Given the description of an element on the screen output the (x, y) to click on. 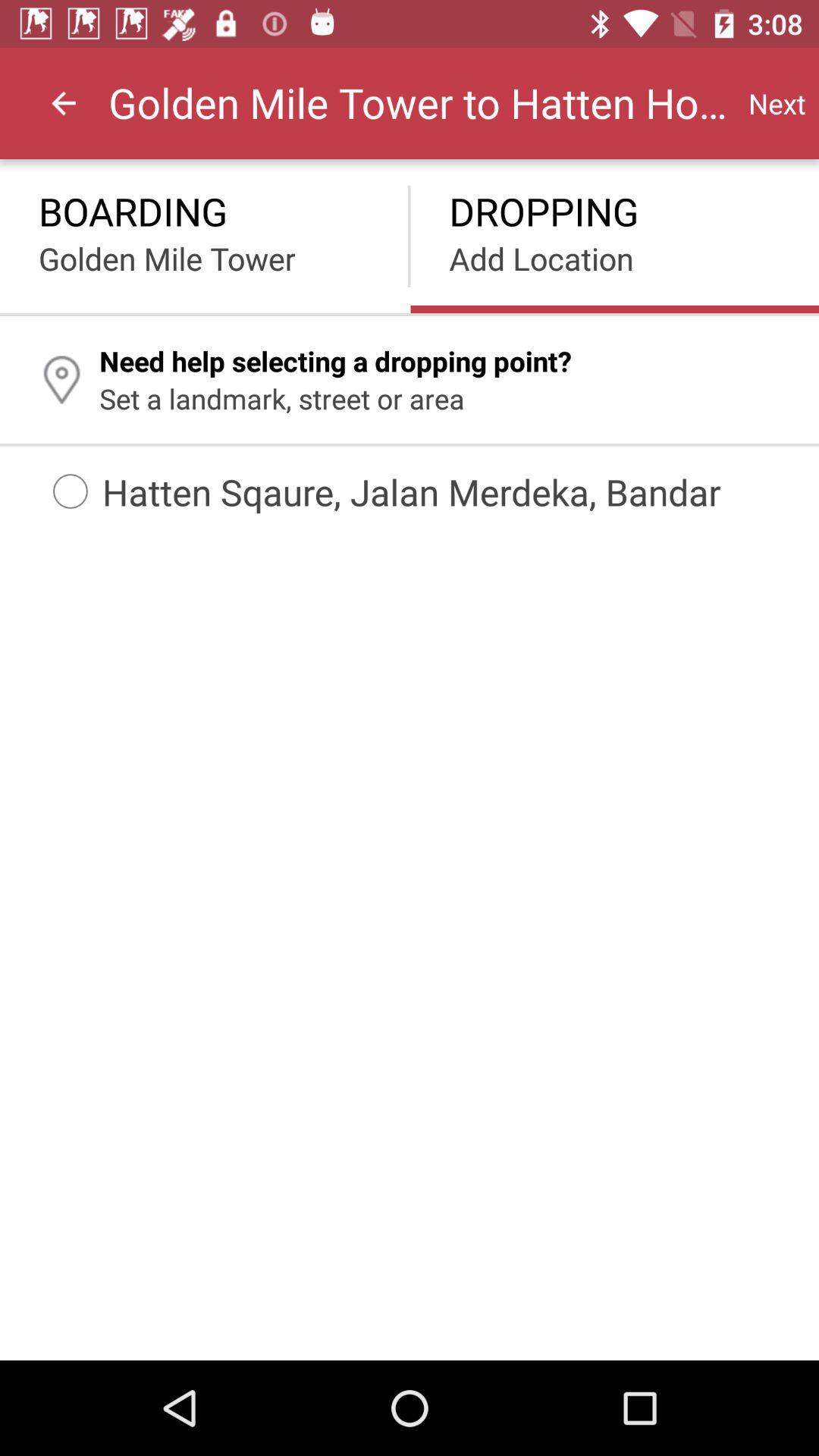
go to previous (63, 103)
